Given the description of an element on the screen output the (x, y) to click on. 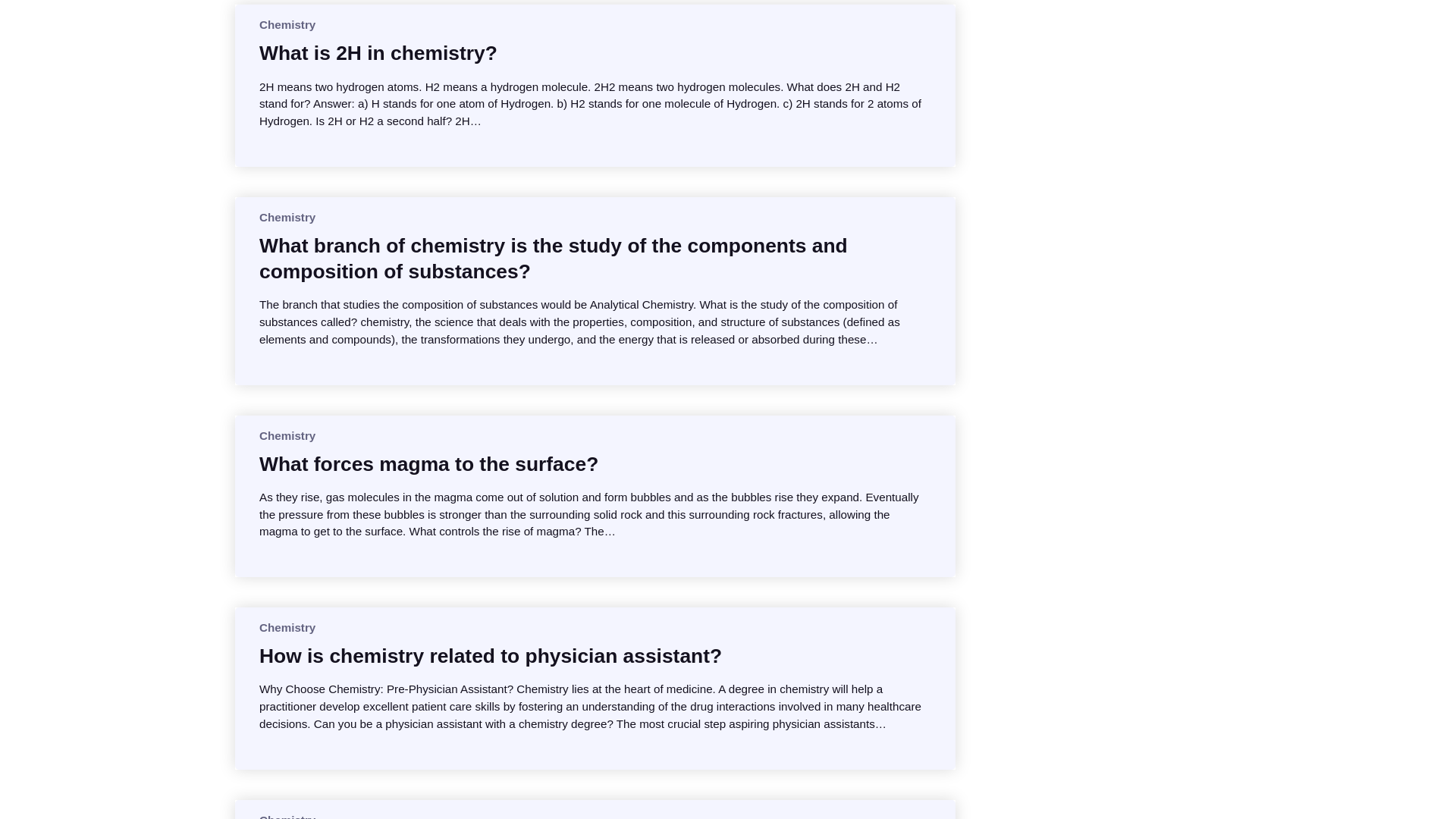
What is 2H in chemistry? (378, 53)
Chemistry (287, 24)
Chemistry (287, 216)
Chemistry (287, 435)
